Given the description of an element on the screen output the (x, y) to click on. 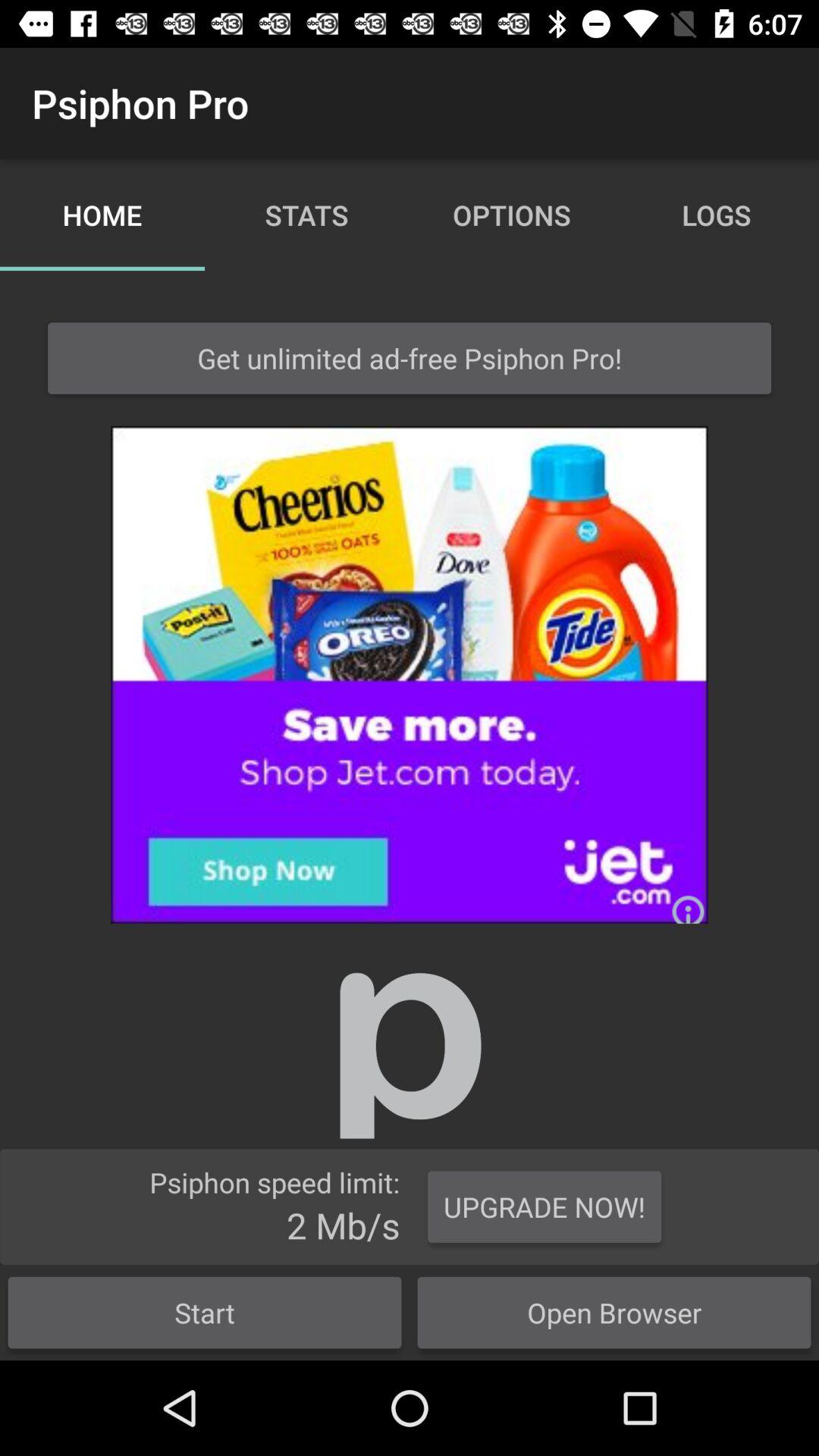
click on the icon open browser (614, 1312)
click on upgrade now (544, 1206)
tab below the text home (409, 358)
